Given the description of an element on the screen output the (x, y) to click on. 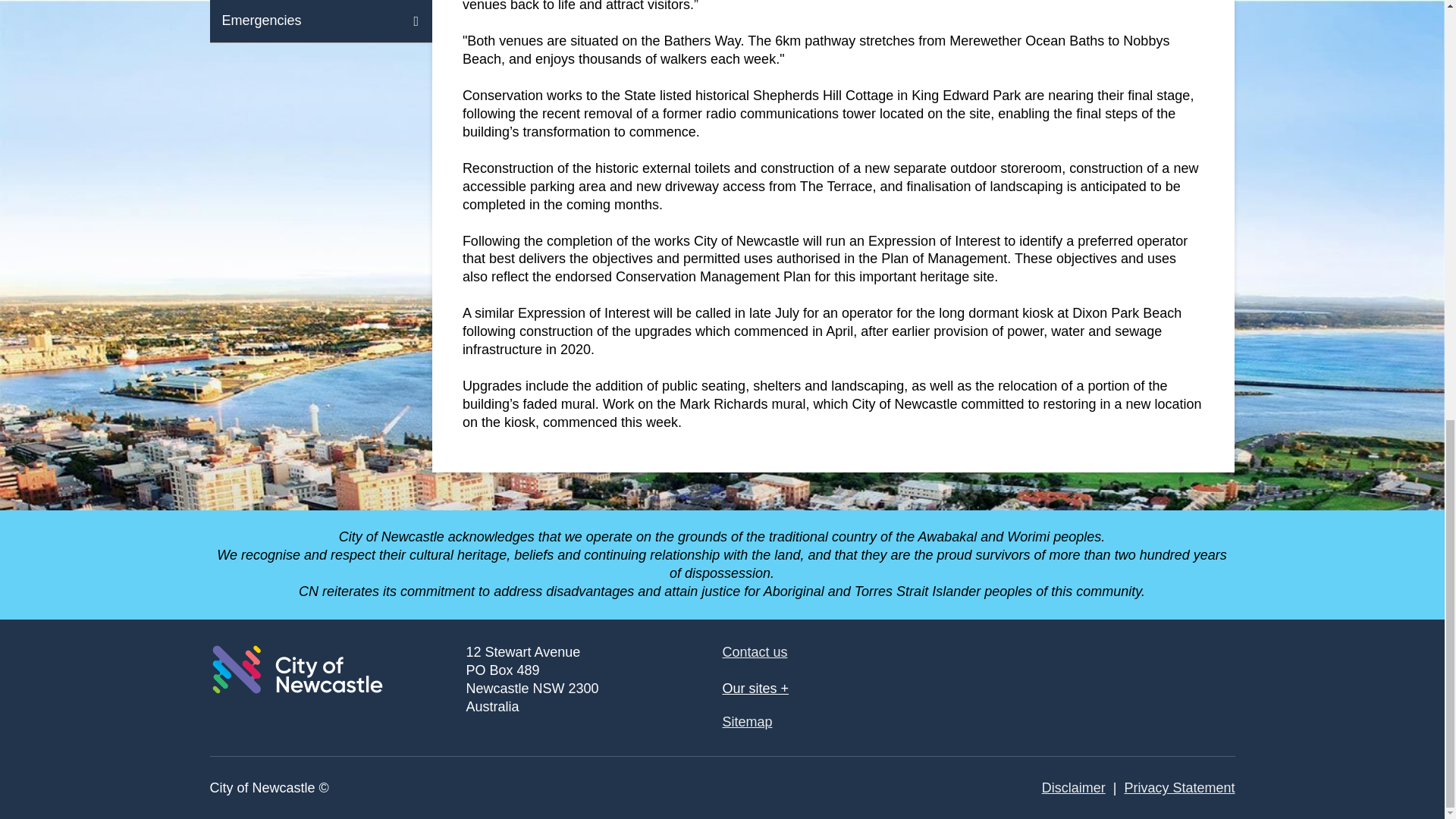
Facebook (1085, 670)
Twitter (1146, 670)
Instagram (1206, 670)
City of Newcastle (296, 669)
